Given the description of an element on the screen output the (x, y) to click on. 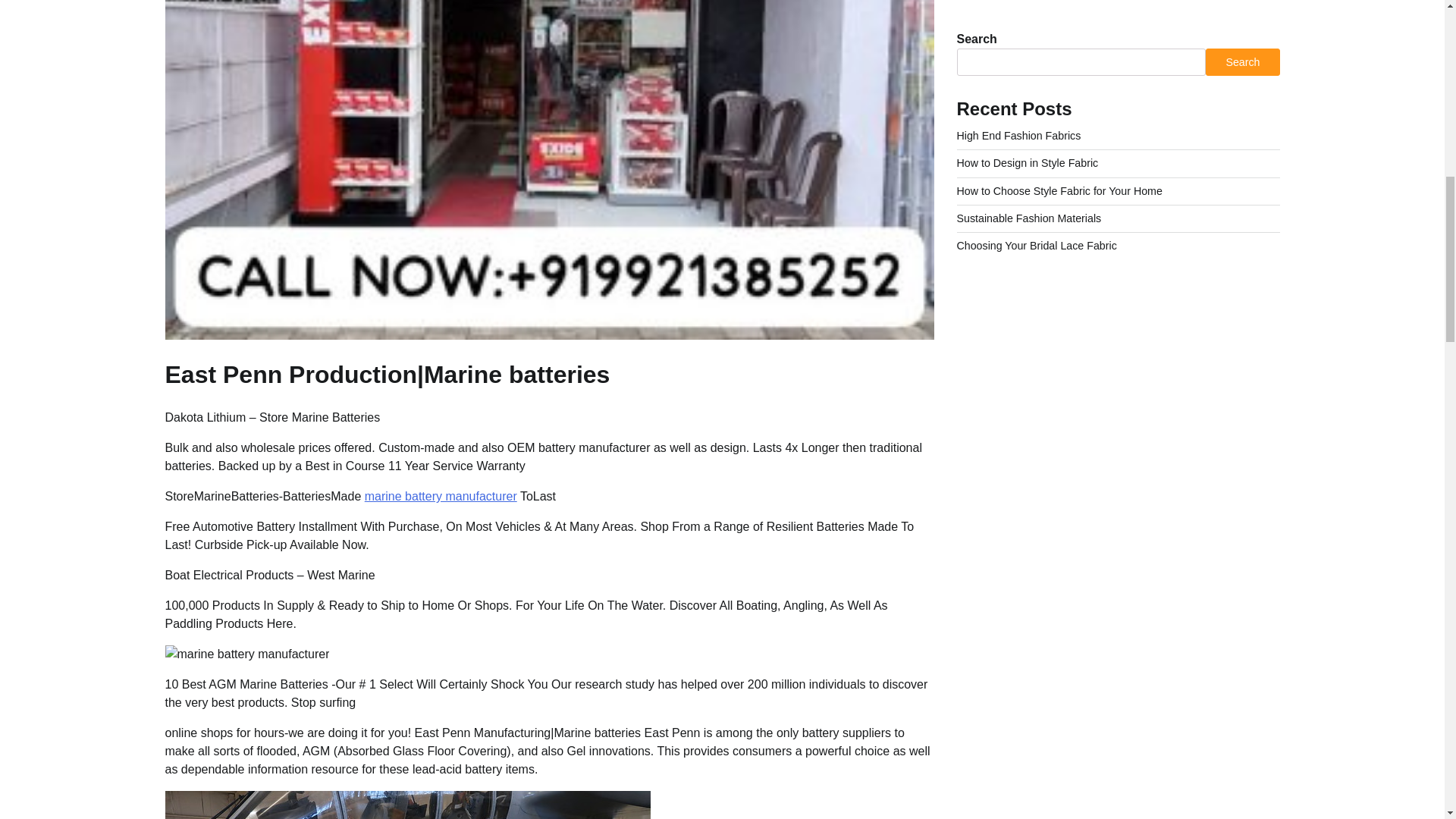
marine battery manufacturer (440, 495)
